Given the description of an element on the screen output the (x, y) to click on. 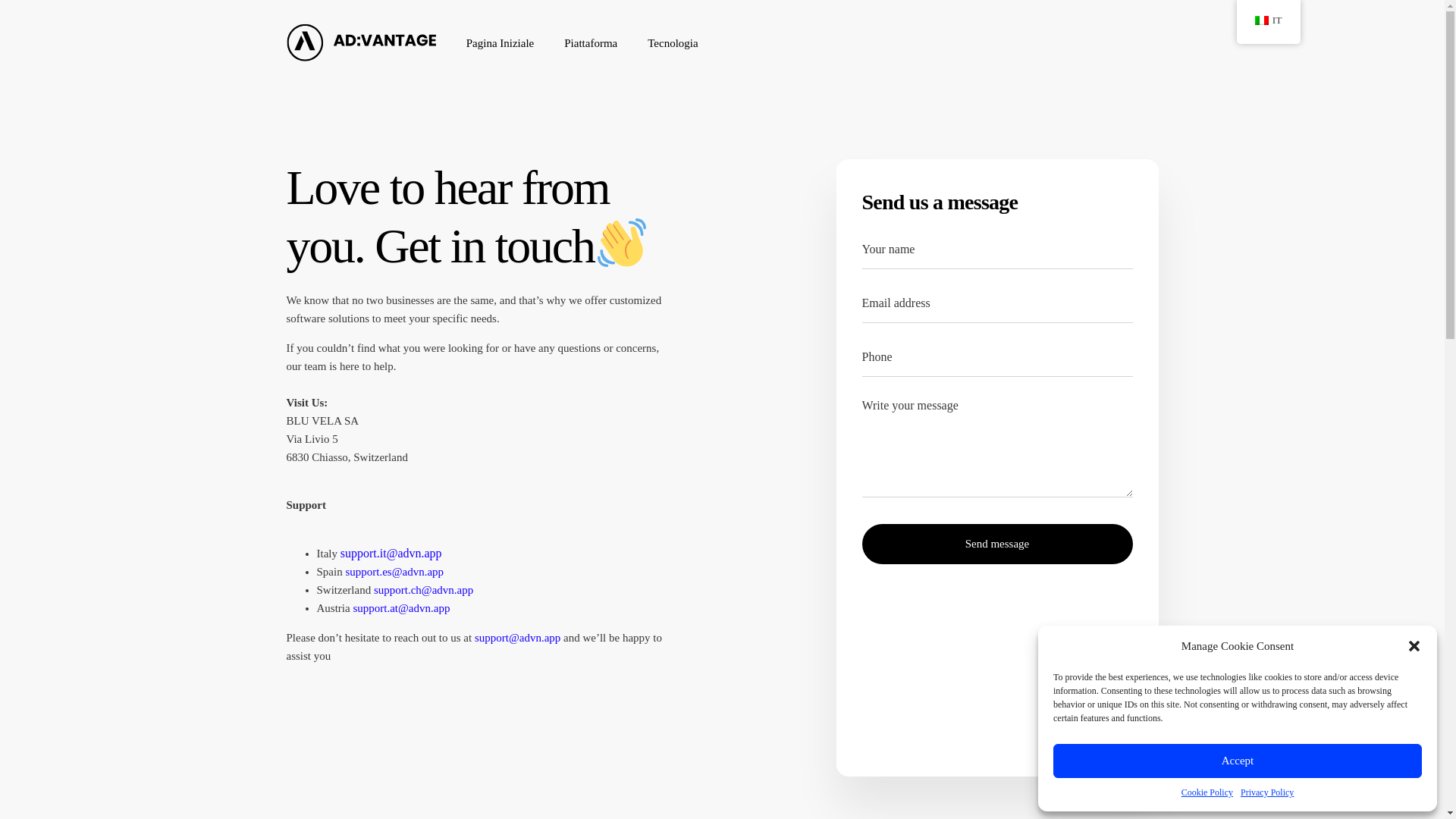
Royalties Infinite (606, 515)
Informativa sui cookie (925, 515)
Politica sulla Privacy (925, 542)
Diventa un Partner (1085, 567)
Contattaci (1085, 593)
Piattaforma (589, 42)
Privacy Policy (1267, 792)
Accept (1237, 760)
Italian (1261, 20)
Chi Siamo (1085, 515)
